Given the description of an element on the screen output the (x, y) to click on. 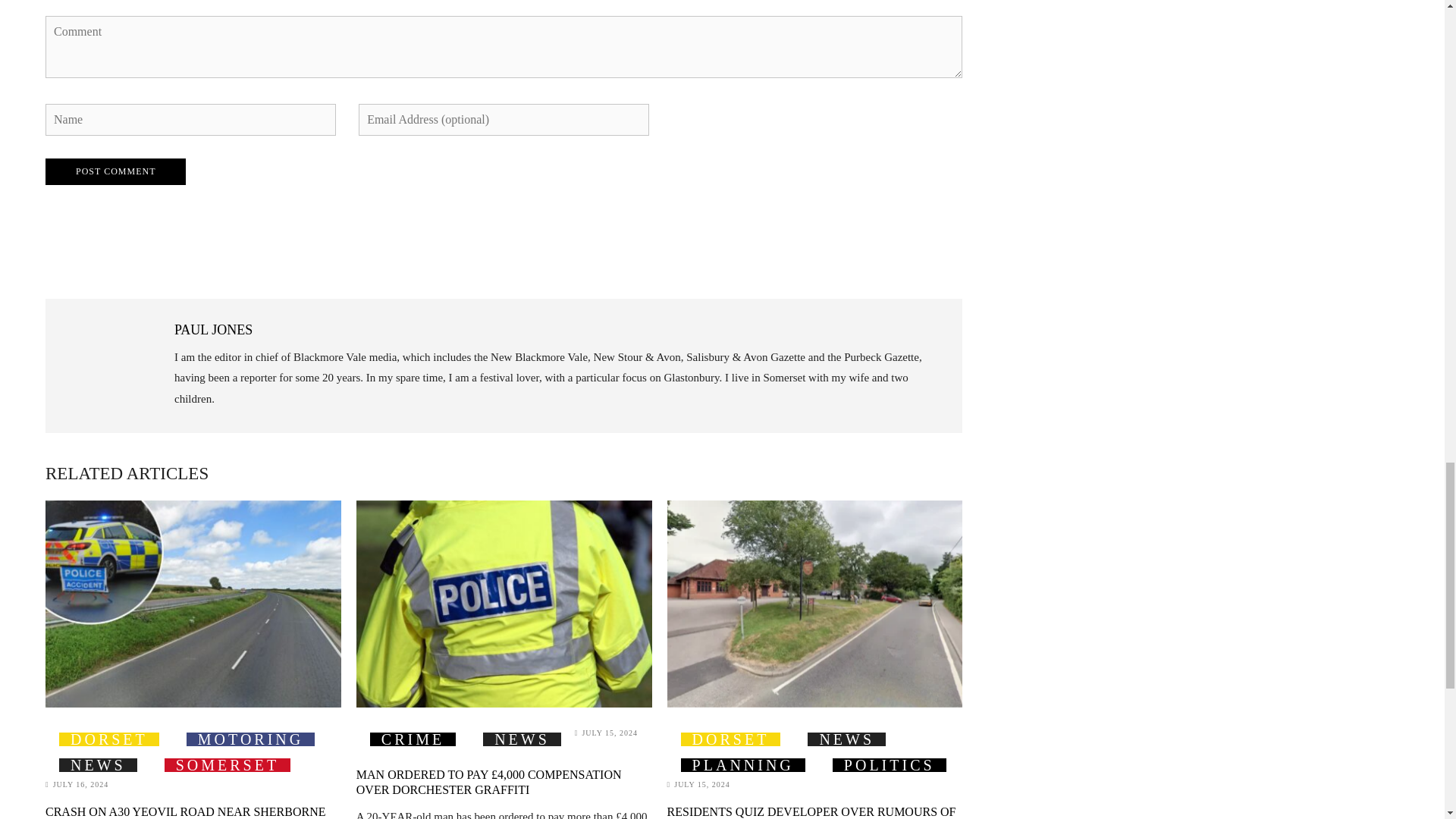
Post Comment (115, 171)
